Given the description of an element on the screen output the (x, y) to click on. 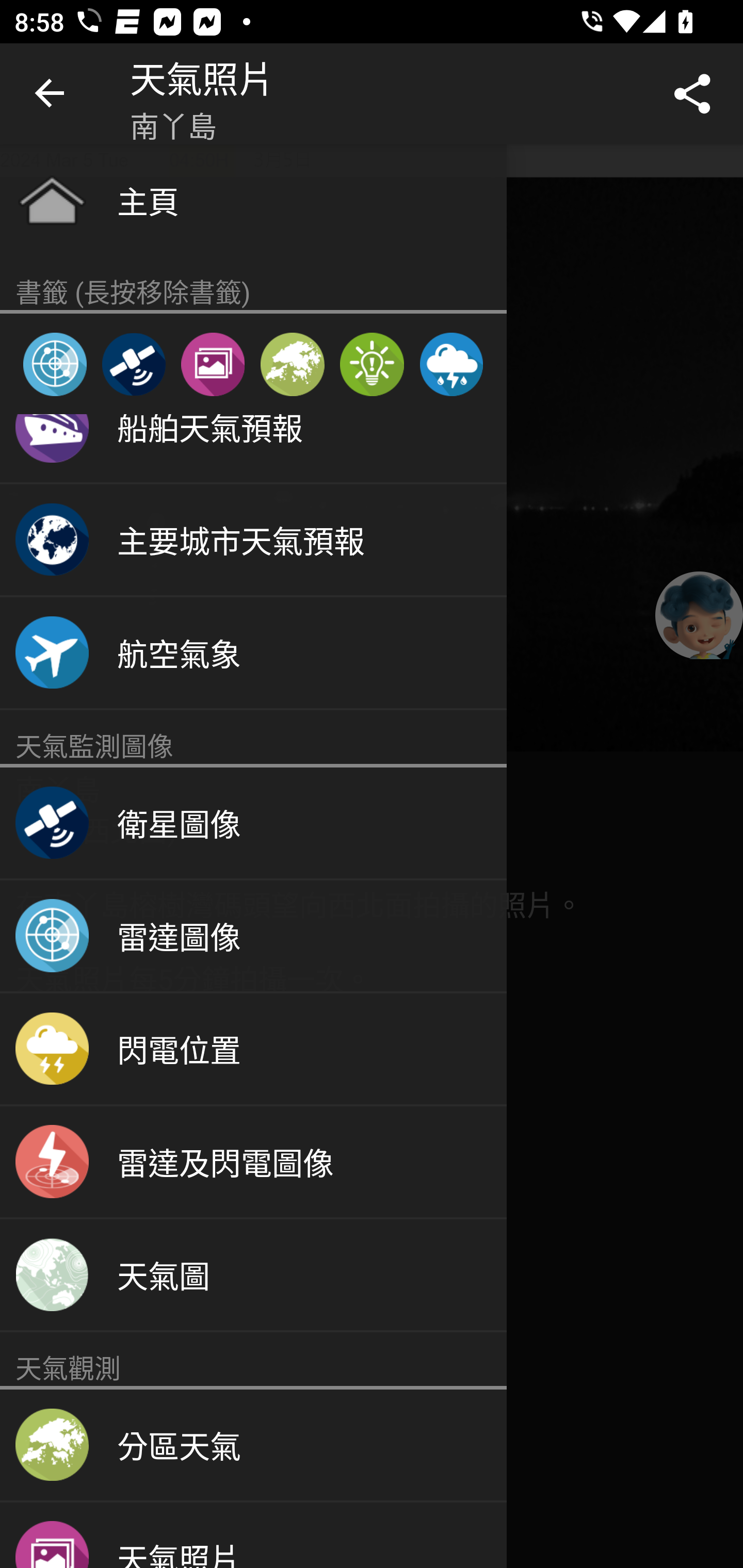
向上瀏覽 (50, 93)
分享 (692, 93)
主頁 (253, 199)
雷達圖像 (54, 364)
衛星圖像 (133, 364)
天氣照片 (212, 364)
分區天氣 (292, 364)
天氣提示 (371, 364)
定點降雨及閃電預報 (451, 364)
船舶天氣預報 (253, 448)
主要城市天氣預報 (253, 540)
航空氣象 (253, 653)
衛星圖像 (253, 823)
雷達圖像 (253, 936)
閃電位置 (253, 1049)
雷達及閃電圖像 (253, 1162)
天氣圖 (253, 1275)
分區天氣 (253, 1445)
天氣照片 (253, 1535)
